Given the description of an element on the screen output the (x, y) to click on. 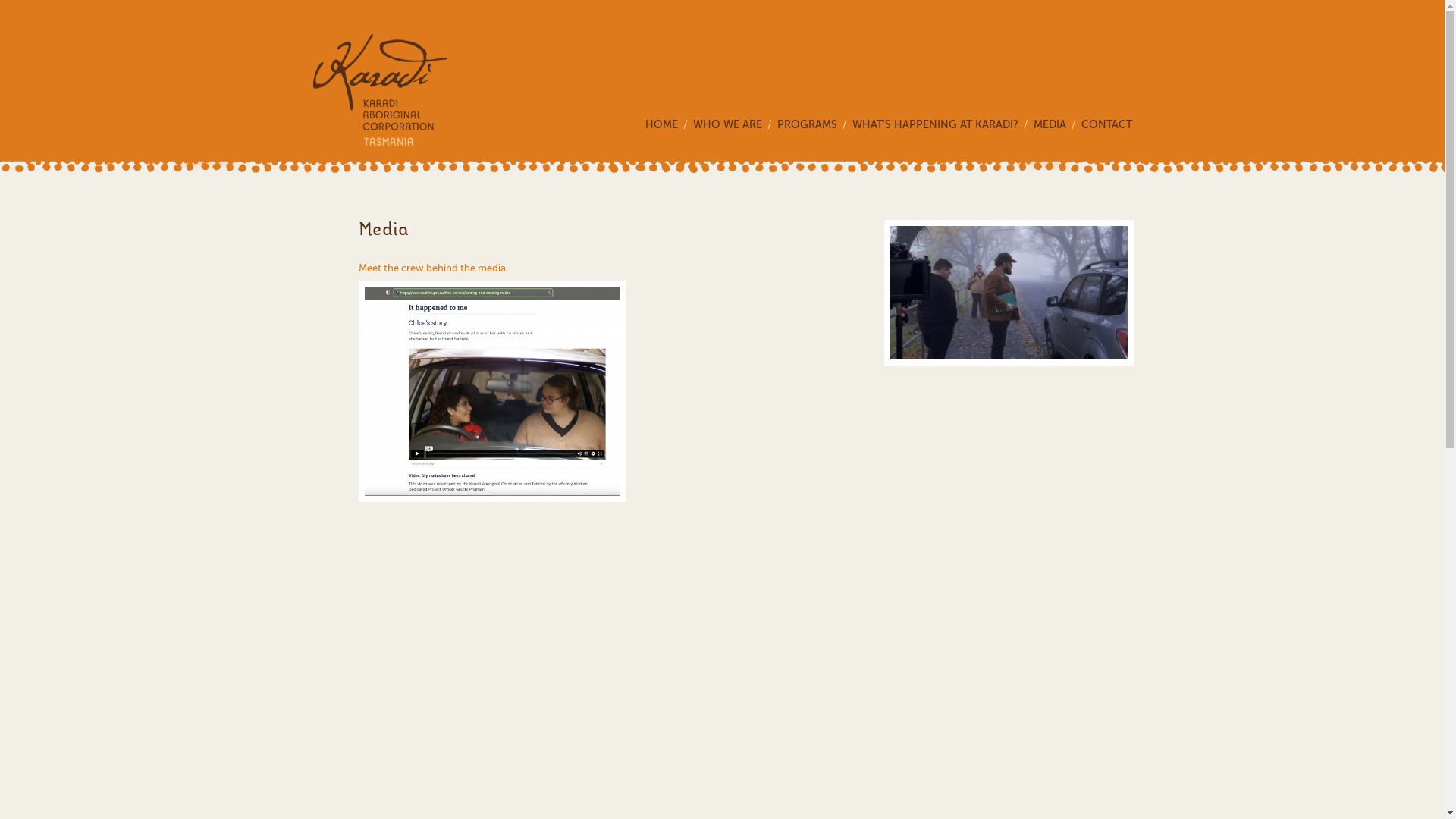
CONTACT Element type: text (1106, 124)
PROGRAMS Element type: text (813, 124)
WHAT'S HAPPENING AT KARADI? Element type: text (942, 124)
HOME Element type: text (668, 124)
YouTube video player Element type: hover (569, 628)
MEDIA Element type: text (1056, 124)
WHO WE ARE Element type: text (735, 124)
Meet the crew behind the media Element type: text (431, 268)
